Given the description of an element on the screen output the (x, y) to click on. 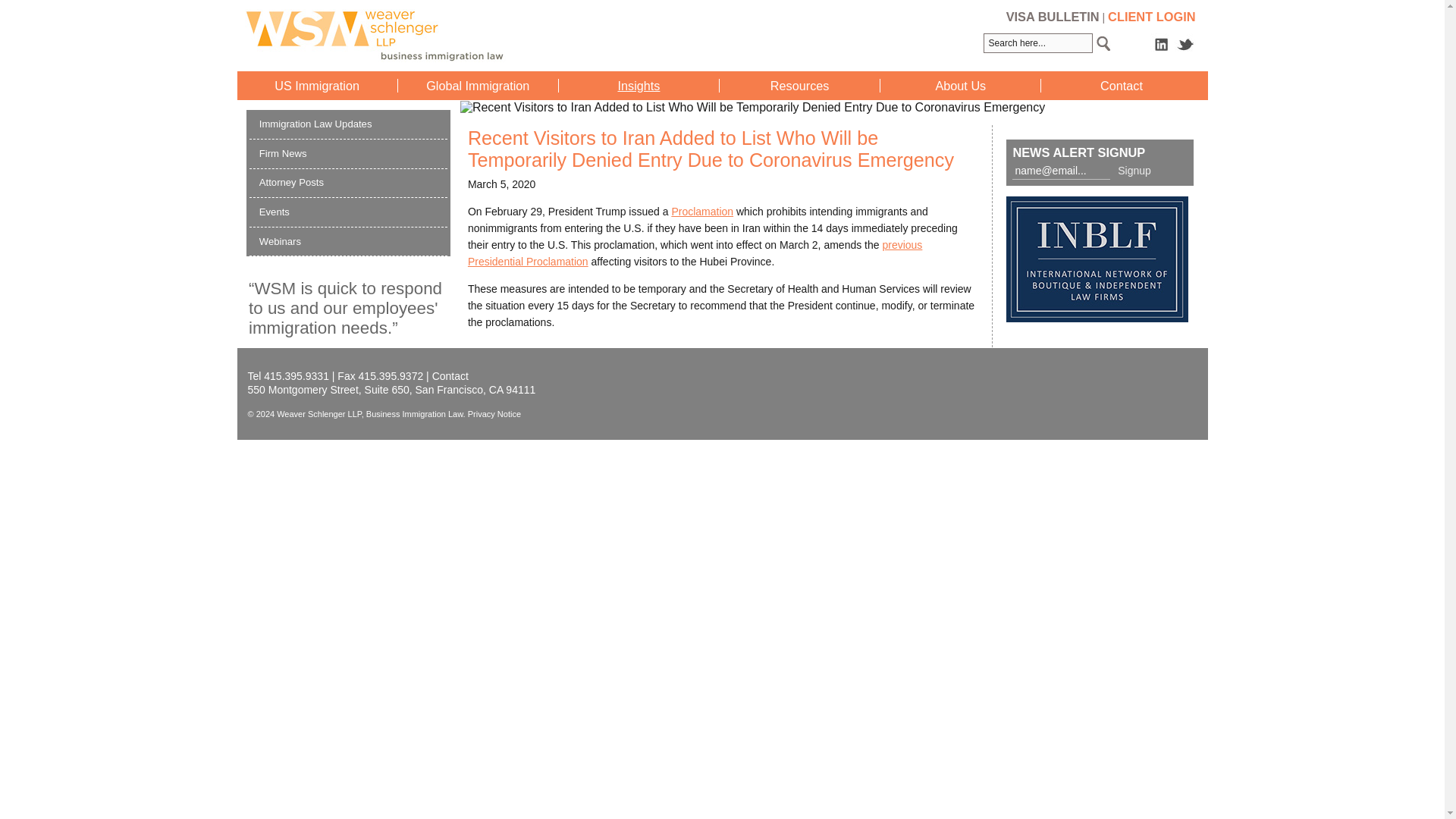
Firm News (283, 153)
Contact (1121, 85)
Global Immigration (477, 85)
Attorney Posts (291, 182)
Global Immigration (477, 85)
WSM business immigration law (478, 35)
Firm News (283, 153)
Proclamation (702, 211)
Insights (638, 85)
Contact (1121, 85)
Events (274, 211)
Search here... (1038, 43)
Resources (799, 85)
About Us (959, 85)
Webinars (280, 241)
